Given the description of an element on the screen output the (x, y) to click on. 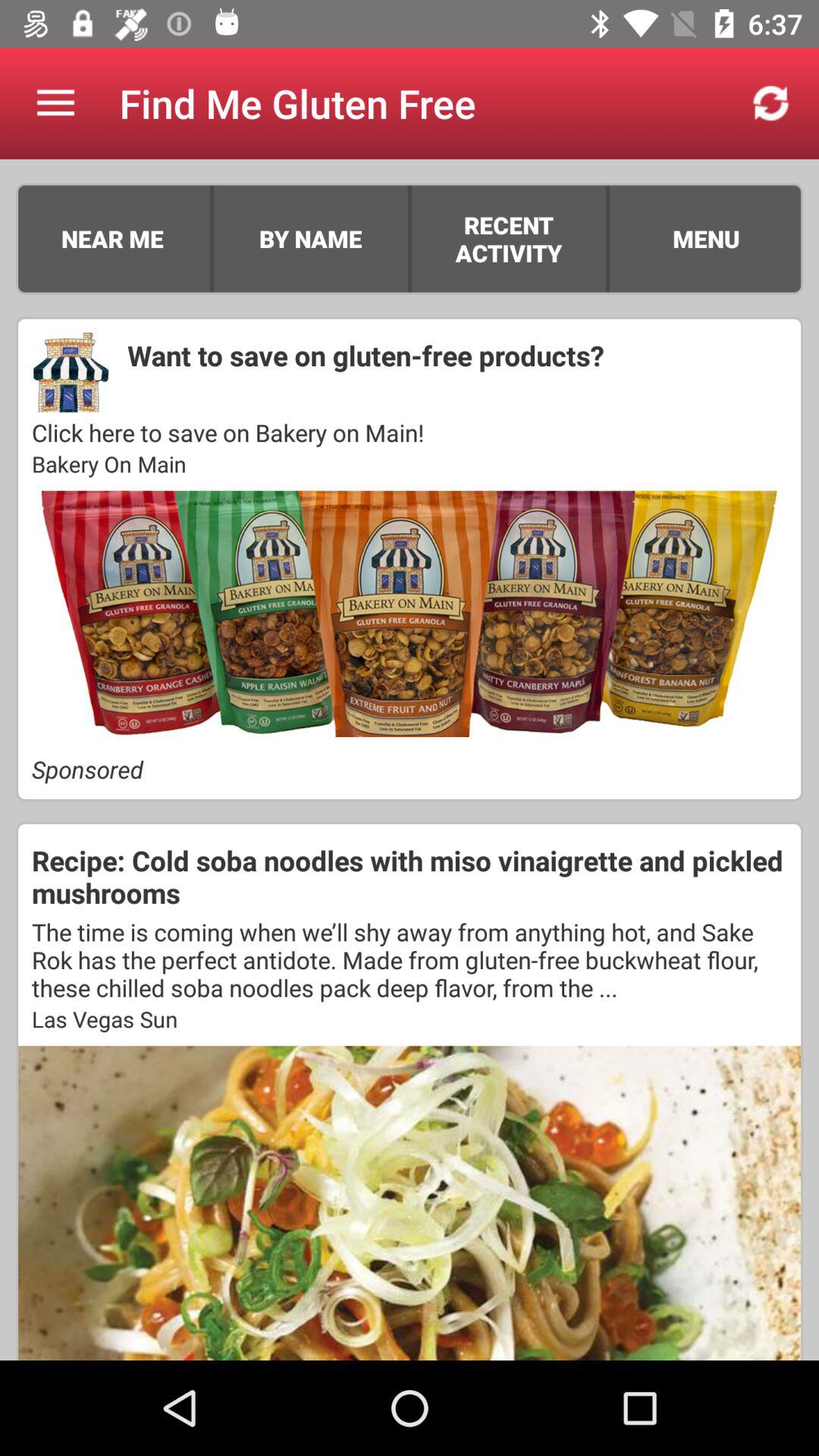
select item next to the find me gluten item (55, 103)
